Given the description of an element on the screen output the (x, y) to click on. 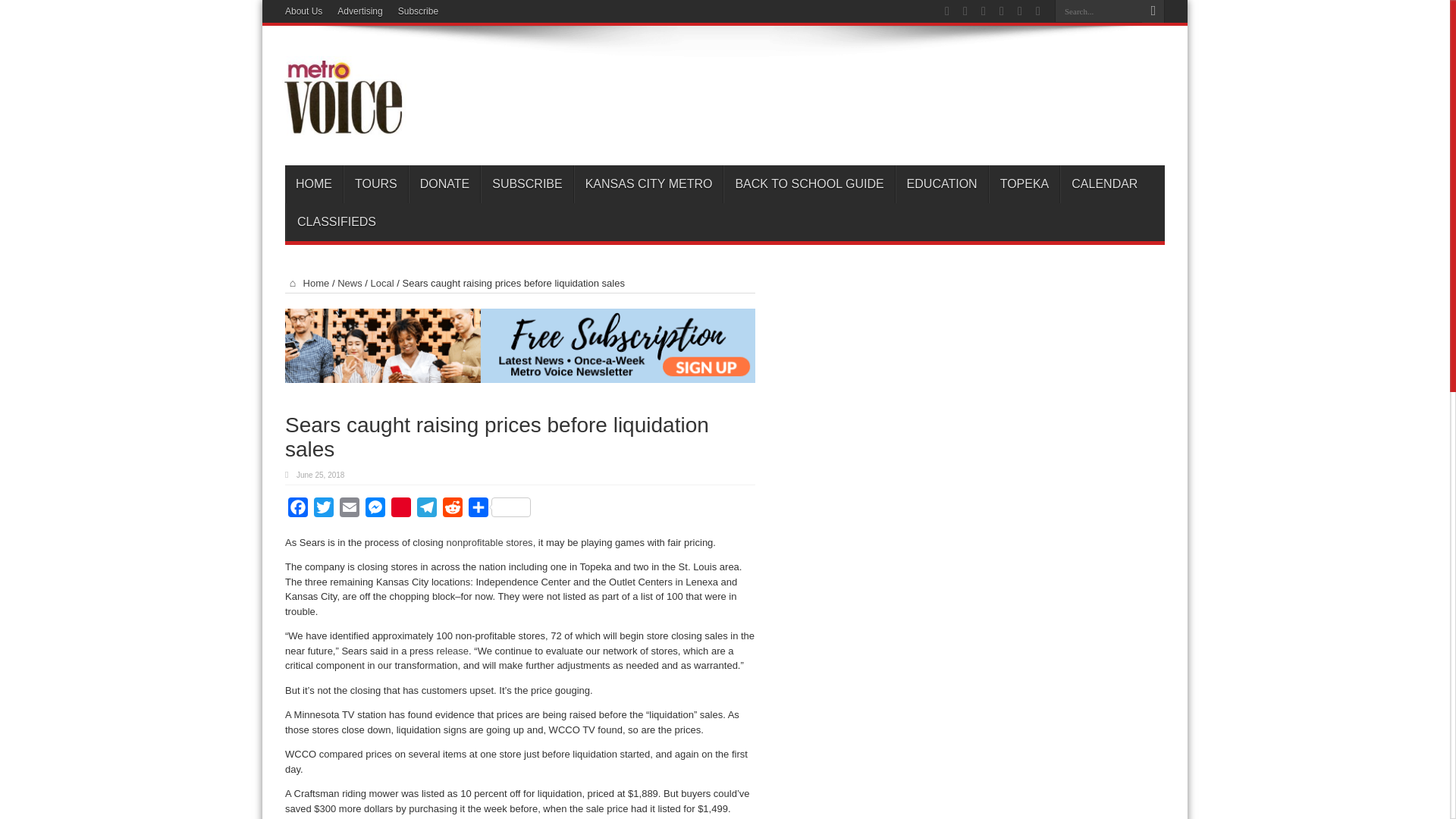
Search (1152, 11)
EDUCATION (941, 184)
Facebook (298, 510)
Advertising (359, 11)
instagram (1037, 11)
BACK TO SCHOOL GUIDE (808, 184)
Metro Voice News (342, 126)
Search... (1097, 11)
SUBSCRIBE (526, 184)
Pinterest (400, 510)
Facebook (965, 11)
Subscribe (417, 11)
HOME (313, 184)
Email (349, 510)
TOPEKA (1023, 184)
